Given the description of an element on the screen output the (x, y) to click on. 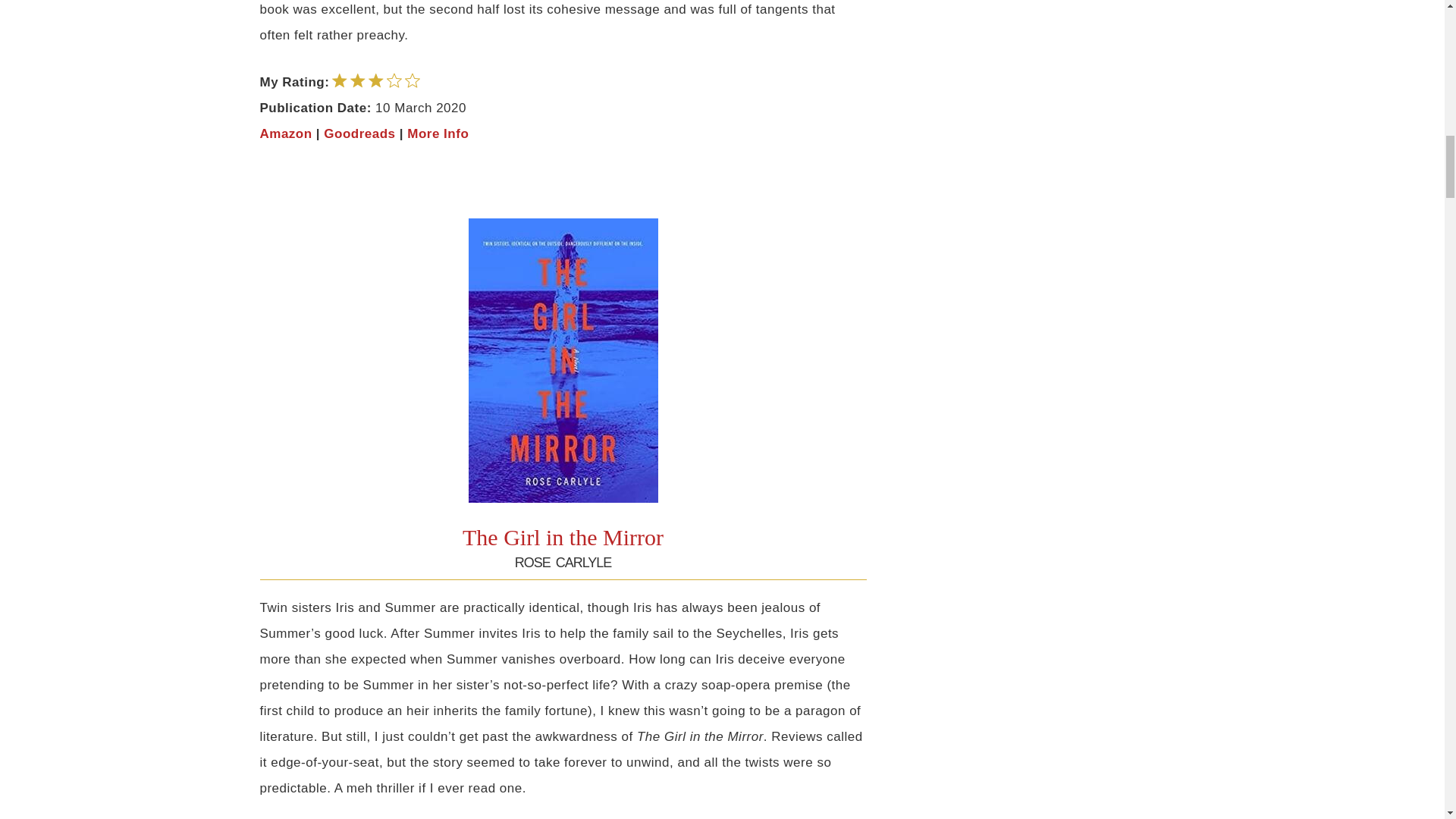
Goodreads (358, 133)
Amazon (285, 133)
The Girl in the Mirror (563, 536)
More Info (437, 133)
